Given the description of an element on the screen output the (x, y) to click on. 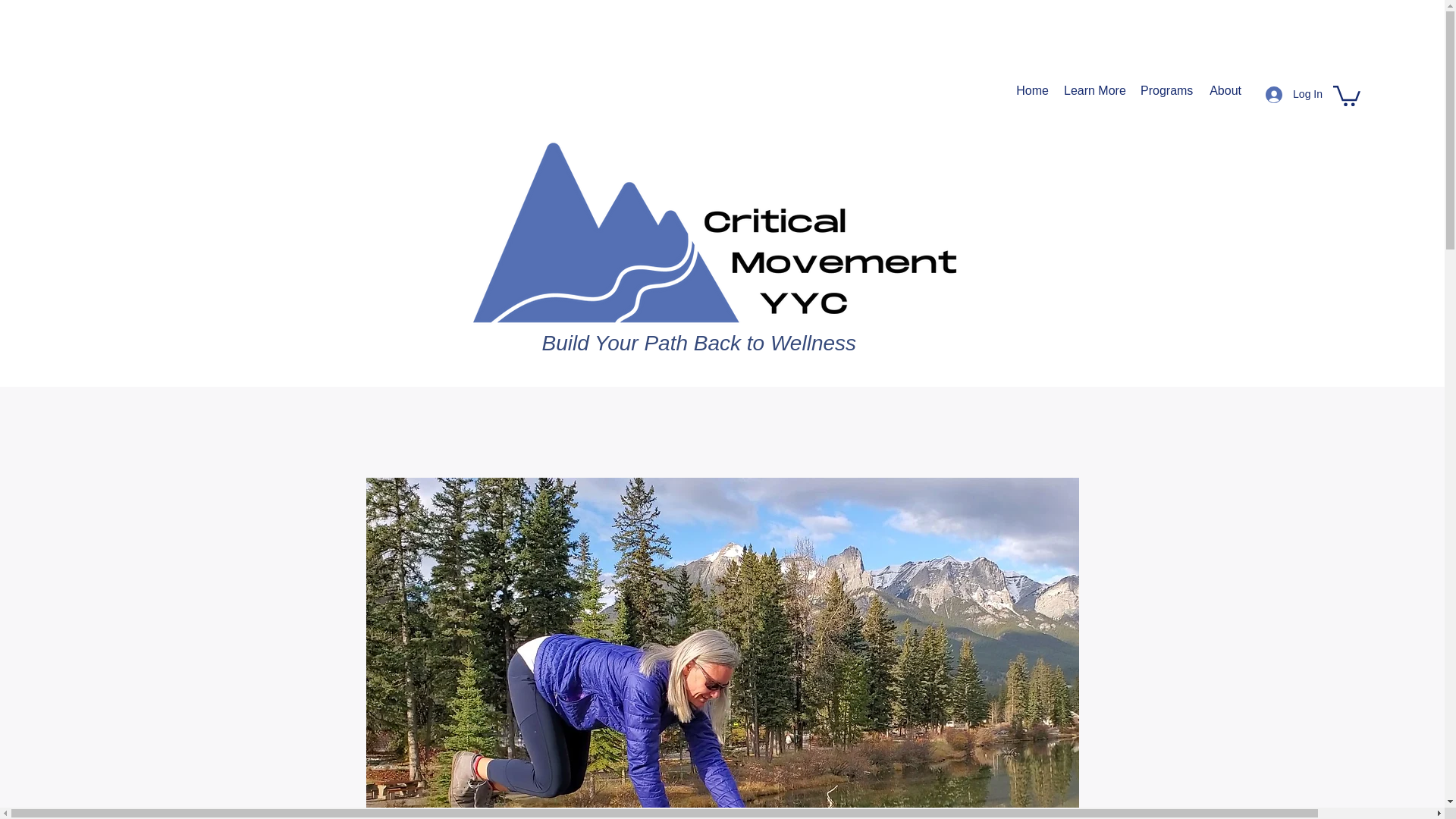
Log In (1294, 94)
Home (1032, 90)
Build Your Path Back to Wellness (698, 342)
